Given the description of an element on the screen output the (x, y) to click on. 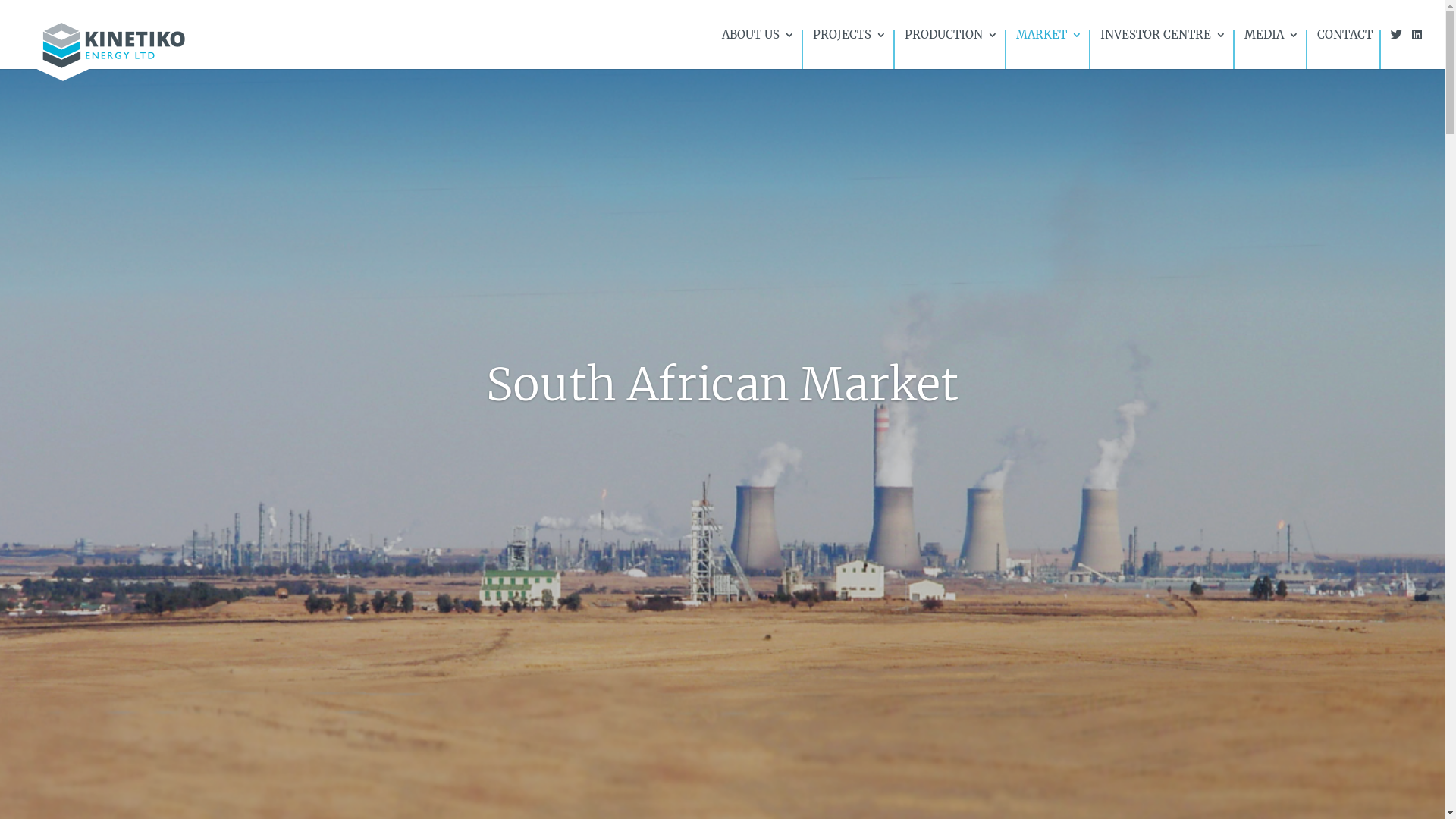
ABOUT US Element type: text (757, 49)
CONTACT Element type: text (1344, 49)
PRODUCTION Element type: text (950, 49)
MEDIA Element type: text (1271, 49)
PROJECTS Element type: text (849, 49)
INVESTOR CENTRE Element type: text (1163, 49)
MARKET Element type: text (1049, 49)
